Given the description of an element on the screen output the (x, y) to click on. 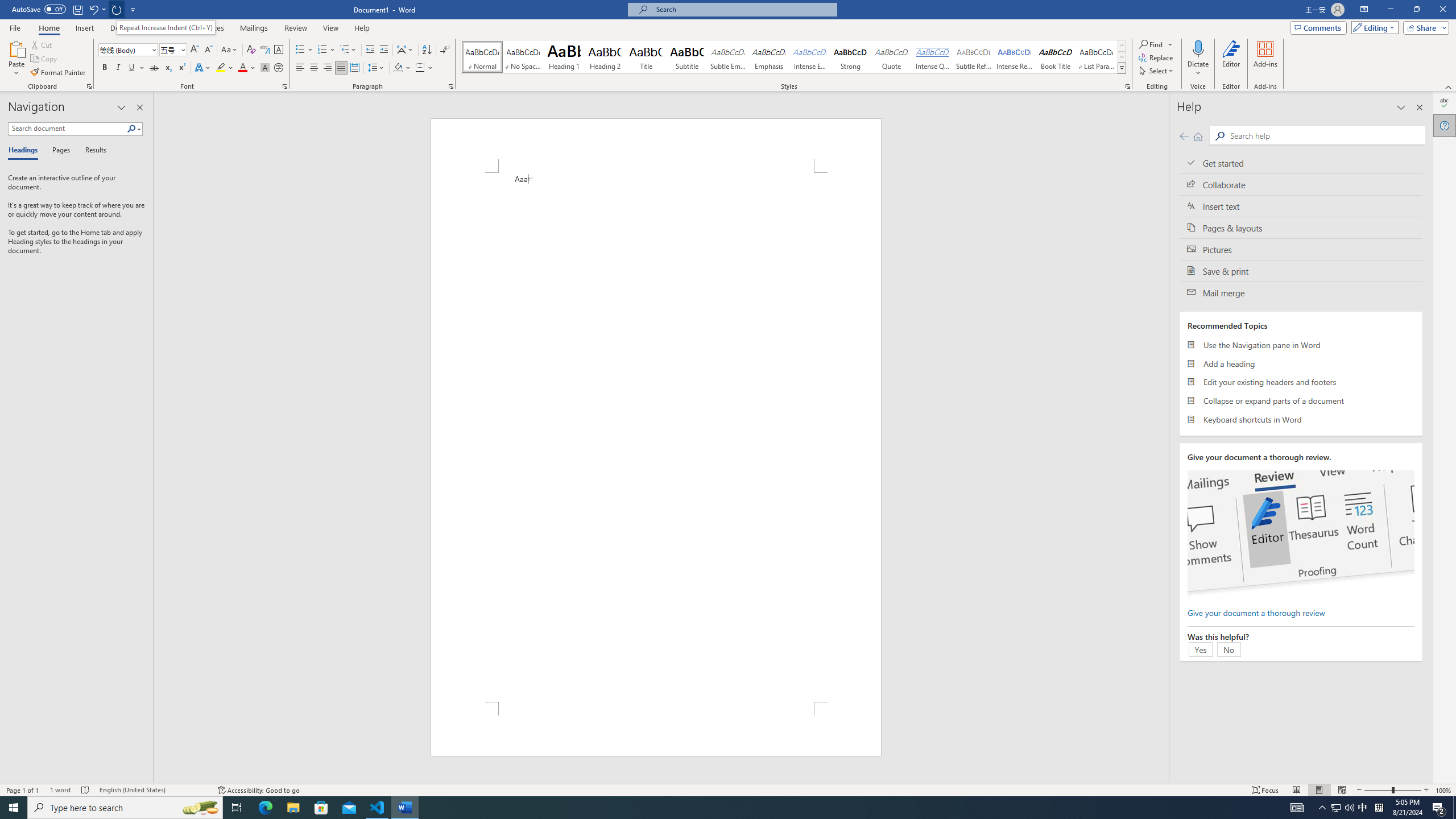
Repeat Increase Indent (117, 9)
Page Number Page 1 of 1 (22, 790)
Give your document a thorough review (1256, 611)
